Given the description of an element on the screen output the (x, y) to click on. 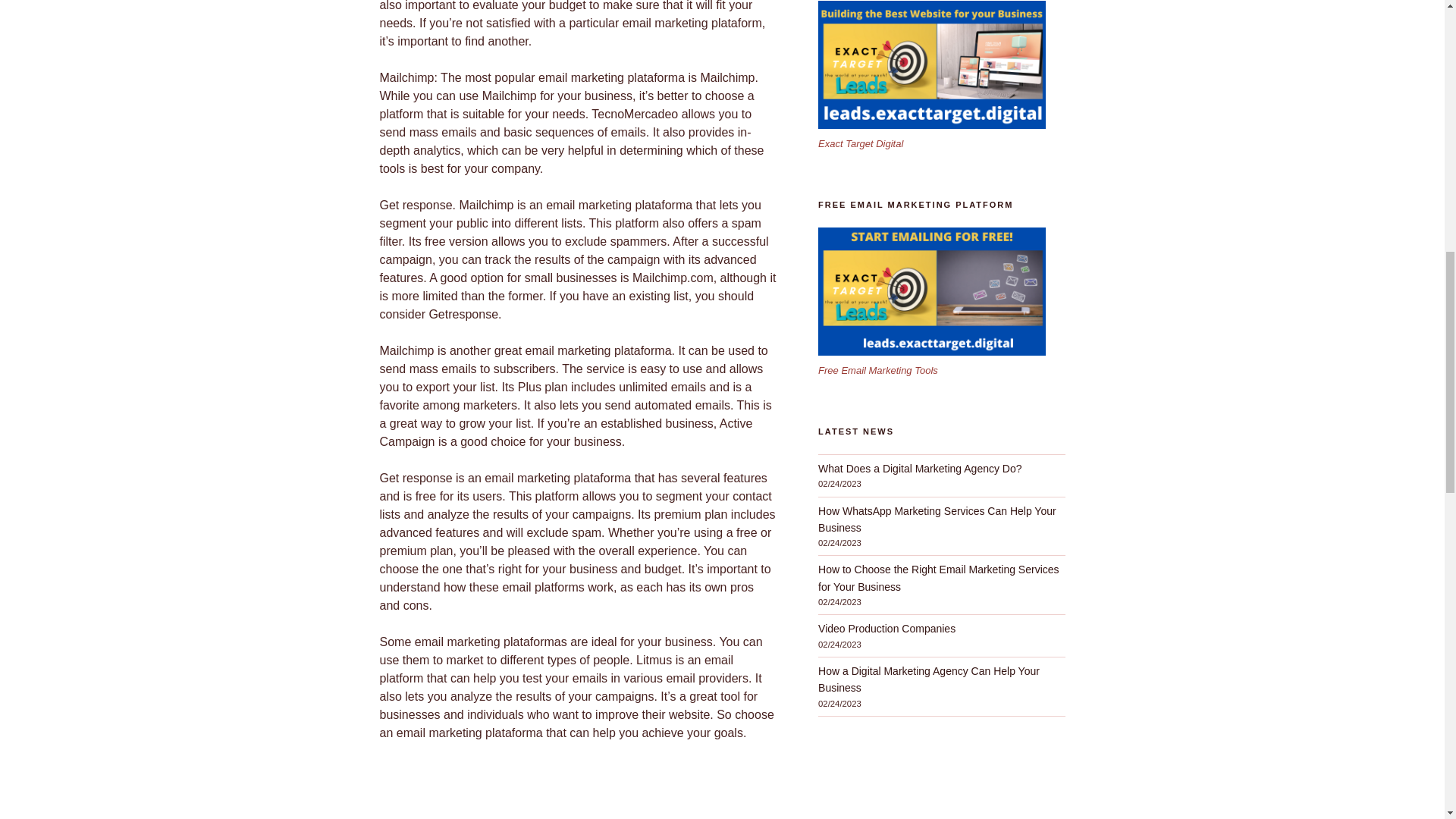
How WhatsApp Marketing Services Can Help Your Business (937, 519)
How a Digital Marketing Agency Can Help Your Business (928, 679)
Video Production Companies (886, 628)
What Does a Digital Marketing Agency Do? (920, 468)
